Given the description of an element on the screen output the (x, y) to click on. 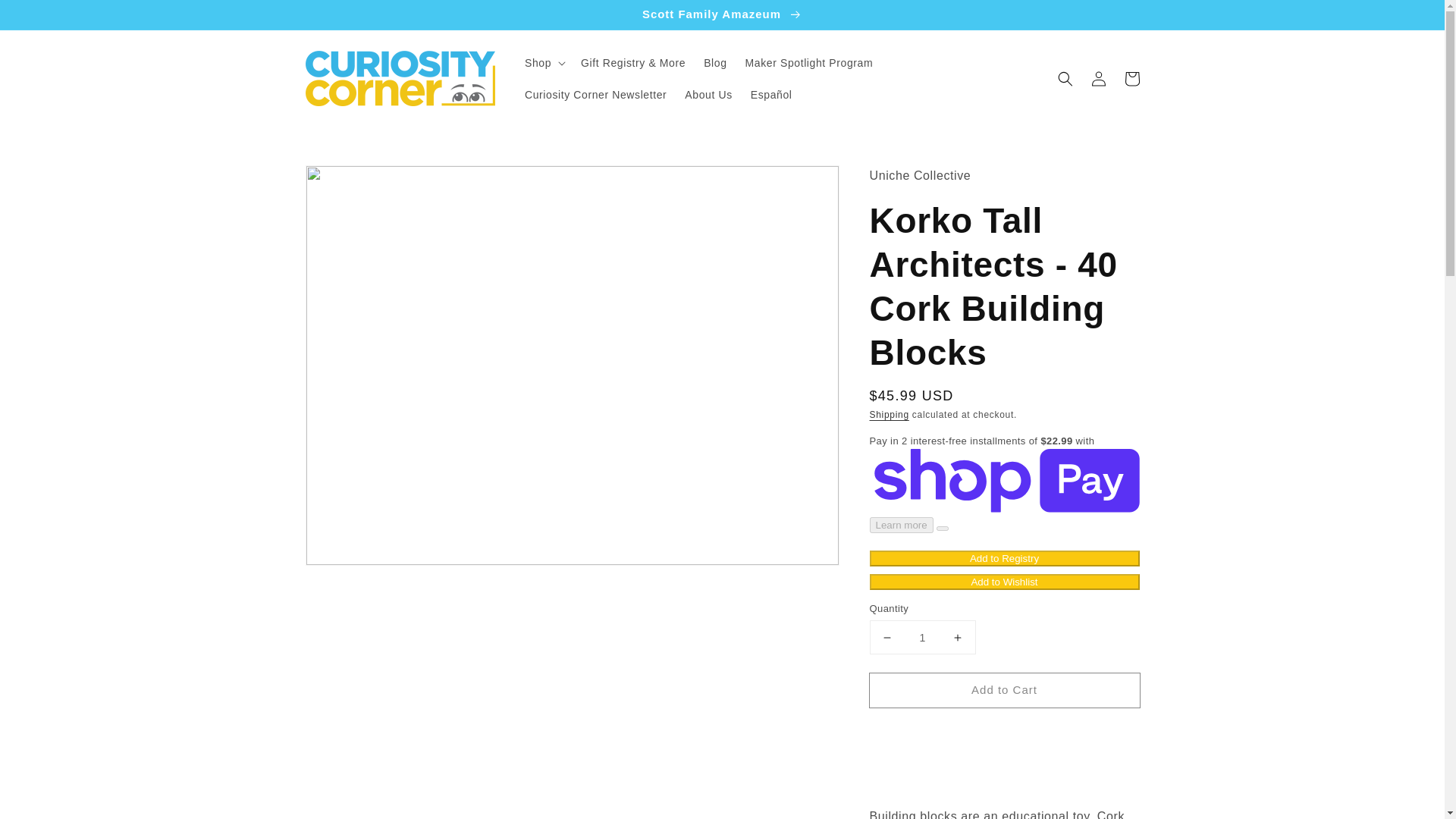
Add to Registry (1003, 558)
Add to Wishlist (1003, 581)
Skip to content (45, 16)
1 (922, 636)
